Given the description of an element on the screen output the (x, y) to click on. 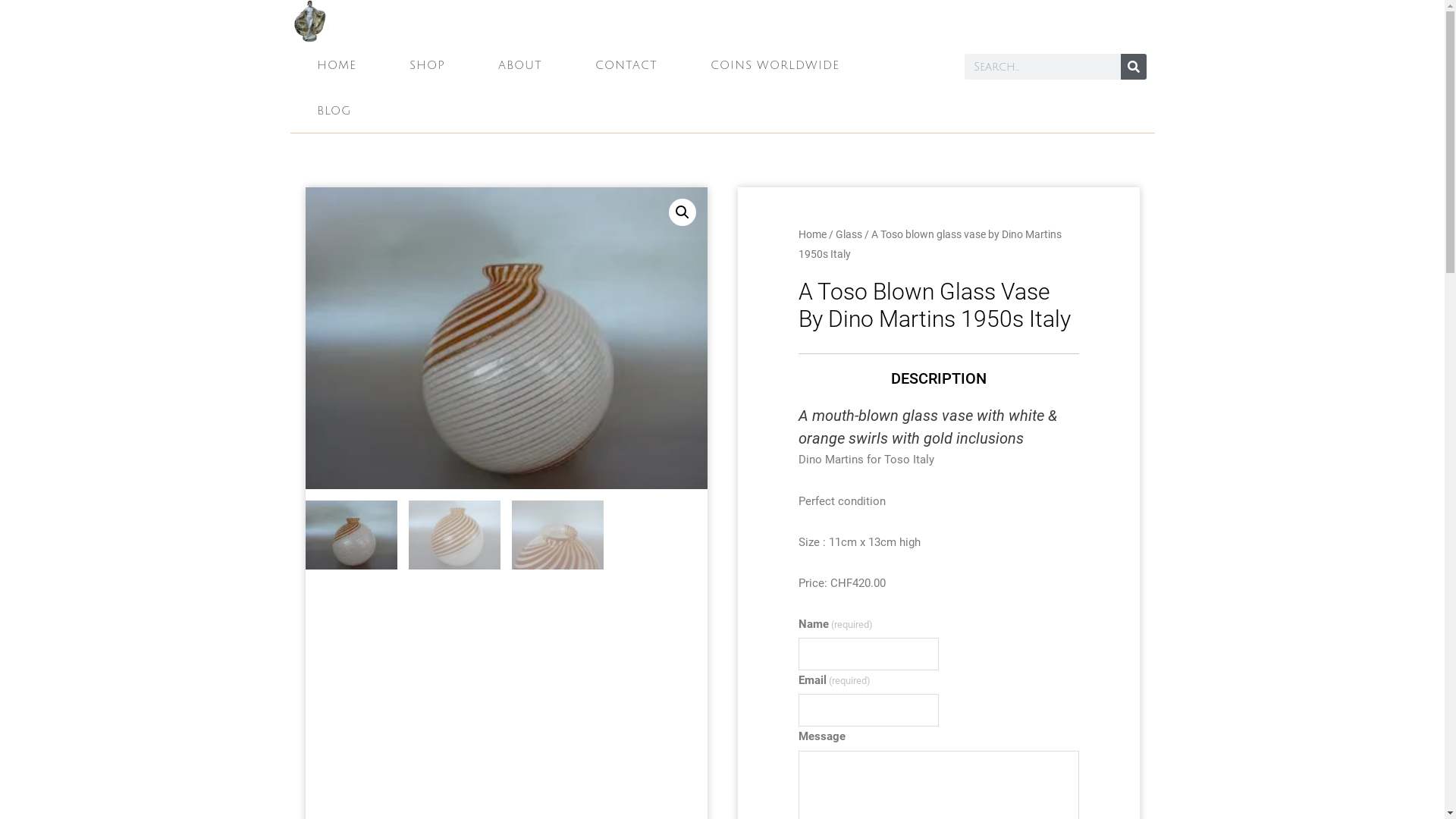
Home Element type: text (811, 234)
CONTACT Element type: text (626, 64)
COINS WORLDWIDE Element type: text (775, 64)
BLOG Element type: text (332, 110)
SHOP Element type: text (426, 64)
P1090045 Element type: hover (505, 338)
HOME Element type: text (335, 64)
Glass Element type: text (848, 234)
ABOUT Element type: text (519, 64)
